Given the description of an element on the screen output the (x, y) to click on. 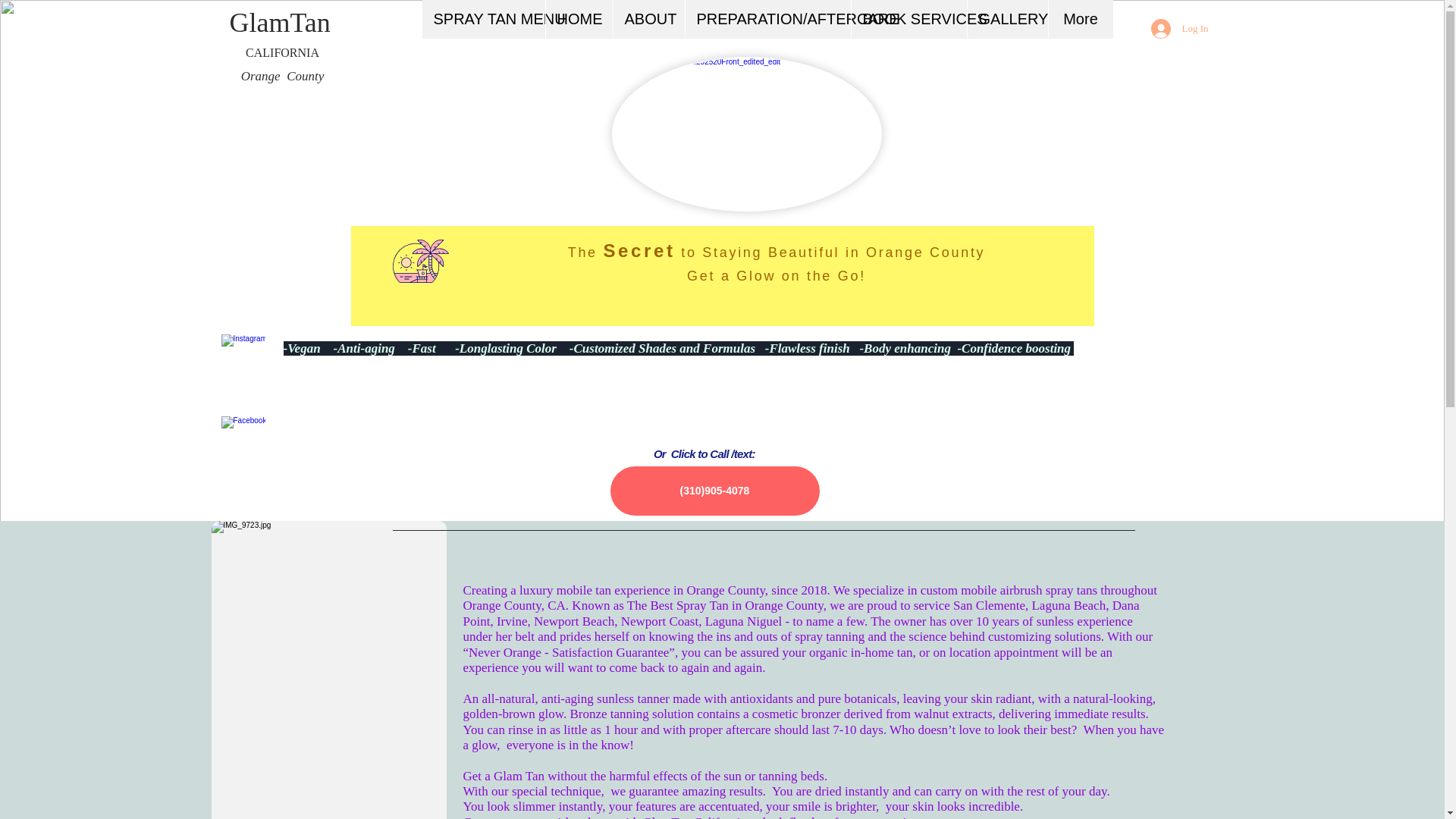
Log In (1179, 28)
HOME (577, 19)
GALLERY (1006, 19)
SPRAY TAN MENU (483, 19)
GlamTan  (281, 24)
ABOUT (648, 19)
BOOK SERVICES (908, 19)
